Given the description of an element on the screen output the (x, y) to click on. 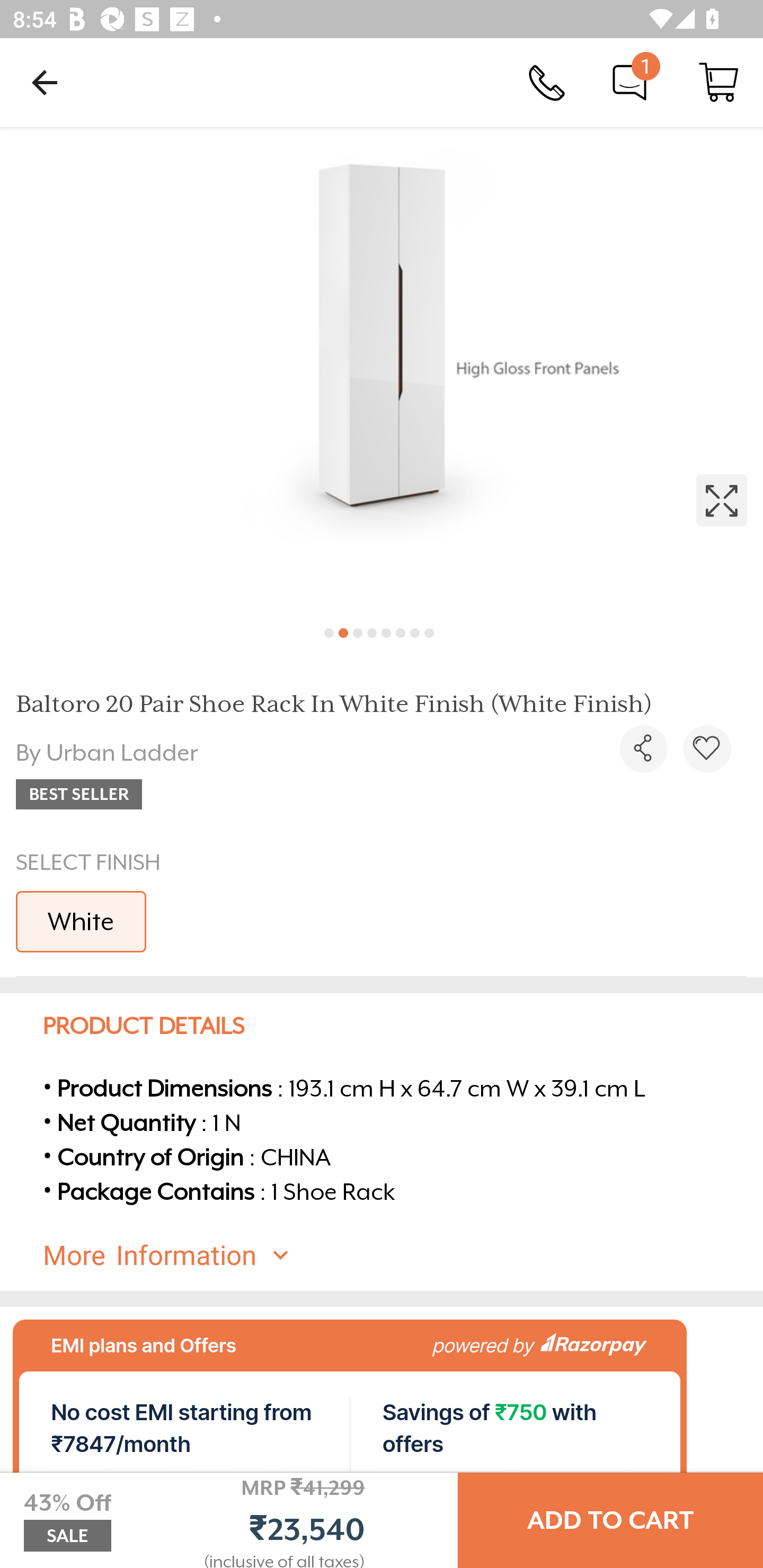
Navigate up (44, 82)
Call Us (546, 81)
Chat (629, 81)
Cart (718, 81)
 (381, 370)
 (643, 748)
 (706, 748)
White (81, 920)
More Information  (396, 1255)
ADD TO CART (610, 1520)
